Given the description of an element on the screen output the (x, y) to click on. 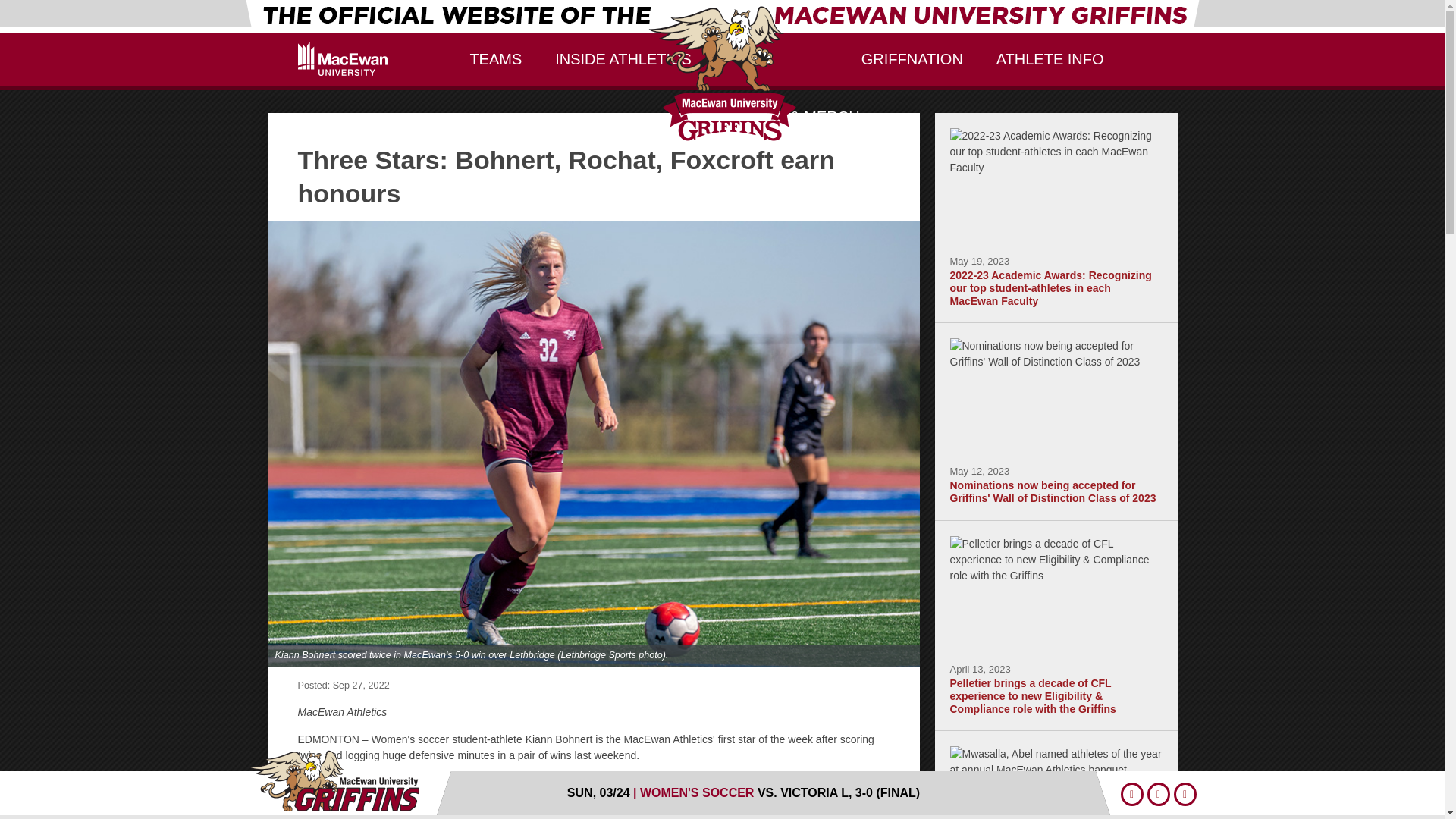
Edu Logo (342, 58)
INSIDE ATHLETICS (623, 61)
GRIFFNATION (911, 61)
TEAMS (495, 61)
ATHLETE INFO (1050, 61)
MacEwan (721, 72)
